Given the description of an element on the screen output the (x, y) to click on. 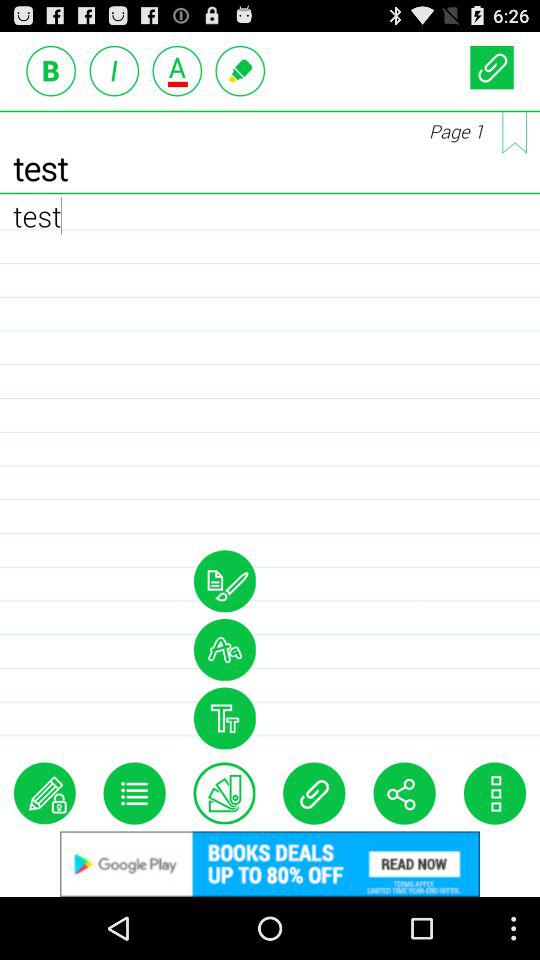
an advertisement that will direct you to google play (270, 864)
